Given the description of an element on the screen output the (x, y) to click on. 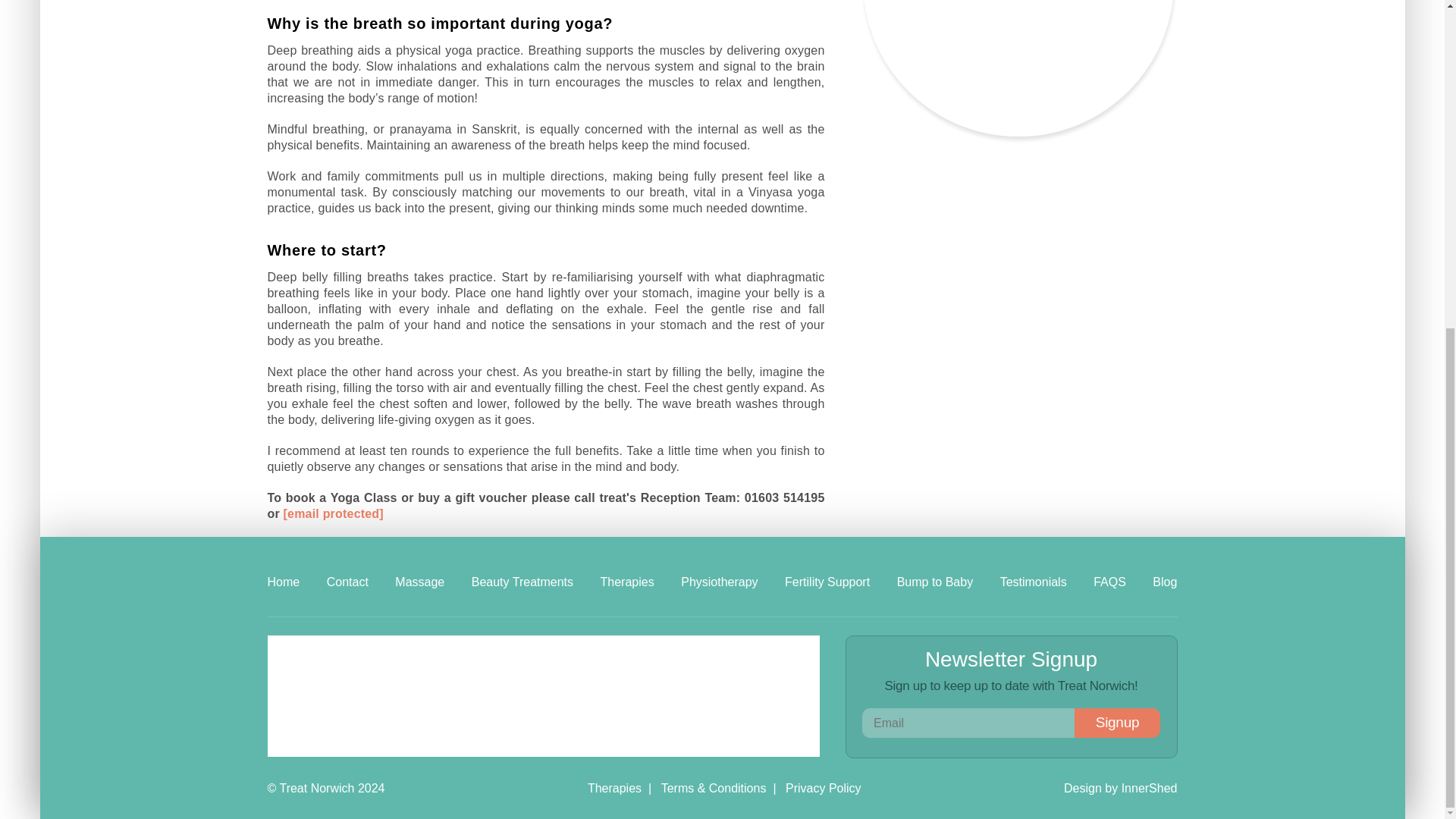
Fertility Support (826, 581)
Physiotherapy (719, 581)
FAQS (1109, 581)
Home (282, 581)
Massage (419, 581)
Contact (347, 581)
Home (282, 581)
Massage (419, 581)
Testimonials (1033, 581)
Fertility Support (826, 581)
